Given the description of an element on the screen output the (x, y) to click on. 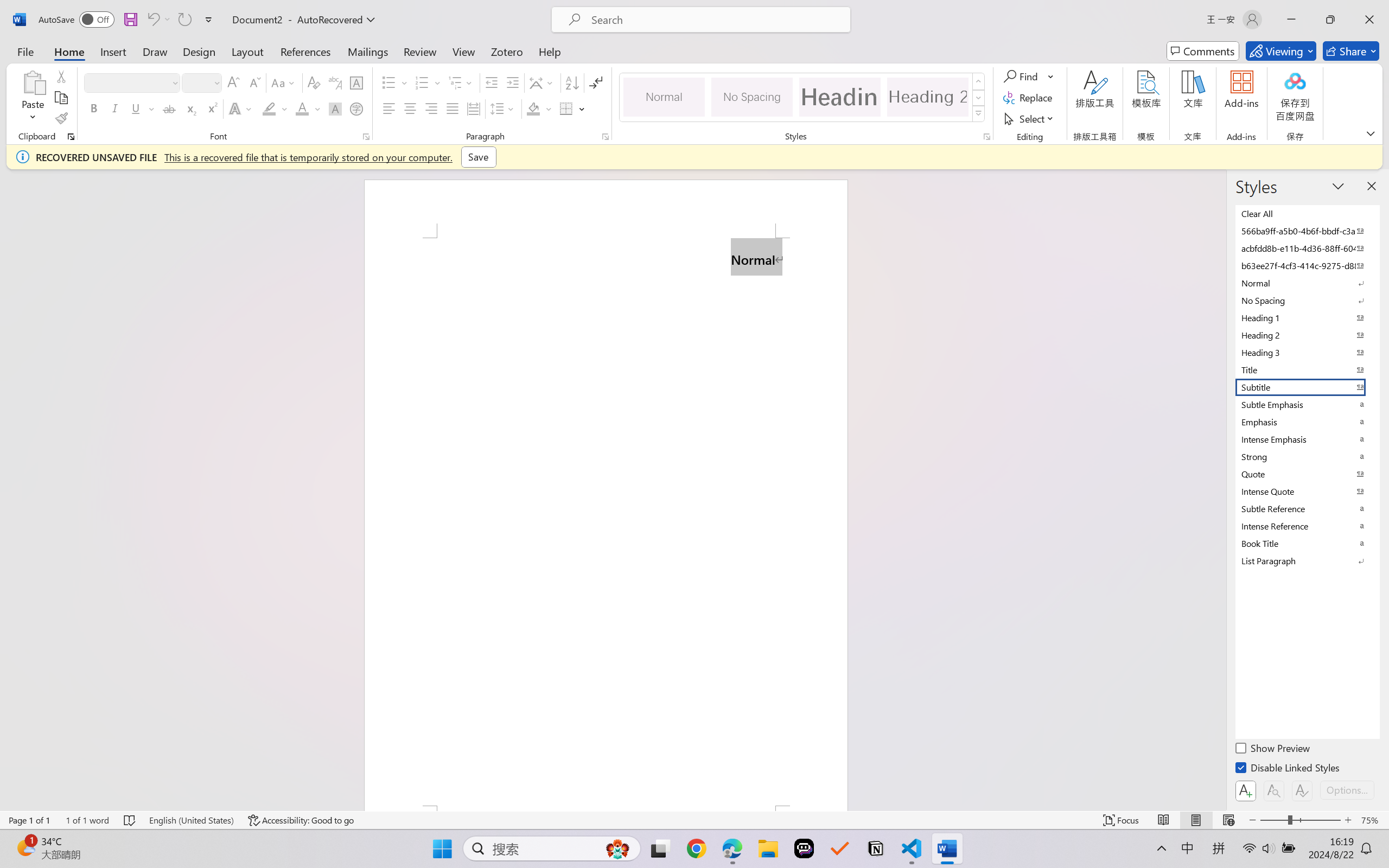
Superscript (210, 108)
Heading 2 (927, 96)
Paragraph... (605, 136)
List Paragraph (1306, 560)
Can't Undo (152, 19)
Font Color (308, 108)
Copy (60, 97)
Zoom 75% (1372, 819)
Intense Reference (1306, 525)
Styles... (986, 136)
Character Border (356, 82)
